Given the description of an element on the screen output the (x, y) to click on. 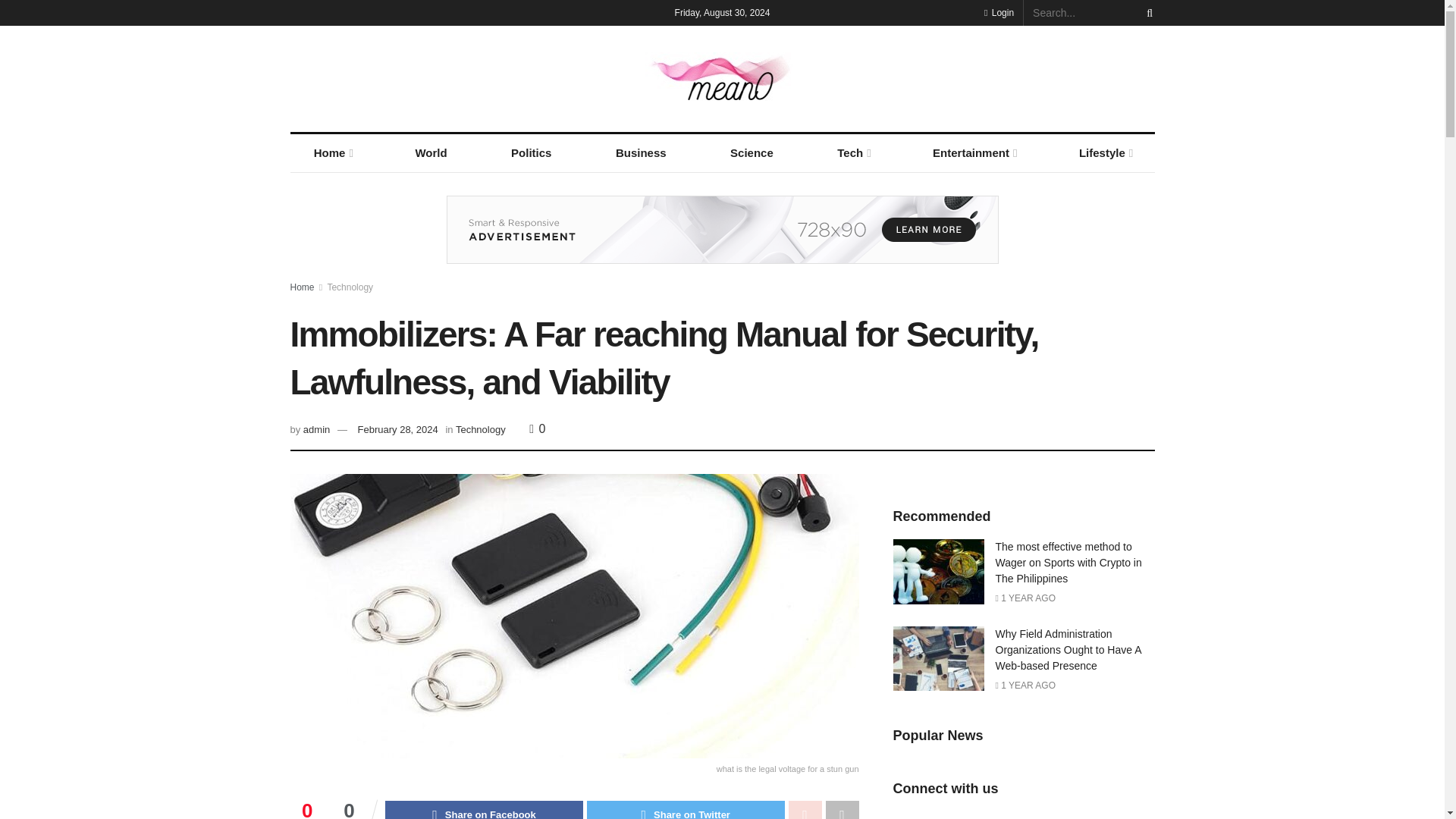
Politics (531, 152)
Science (751, 152)
Home (331, 152)
Entertainment (973, 152)
Login (998, 12)
Business (641, 152)
Tech (852, 152)
World (430, 152)
